Given the description of an element on the screen output the (x, y) to click on. 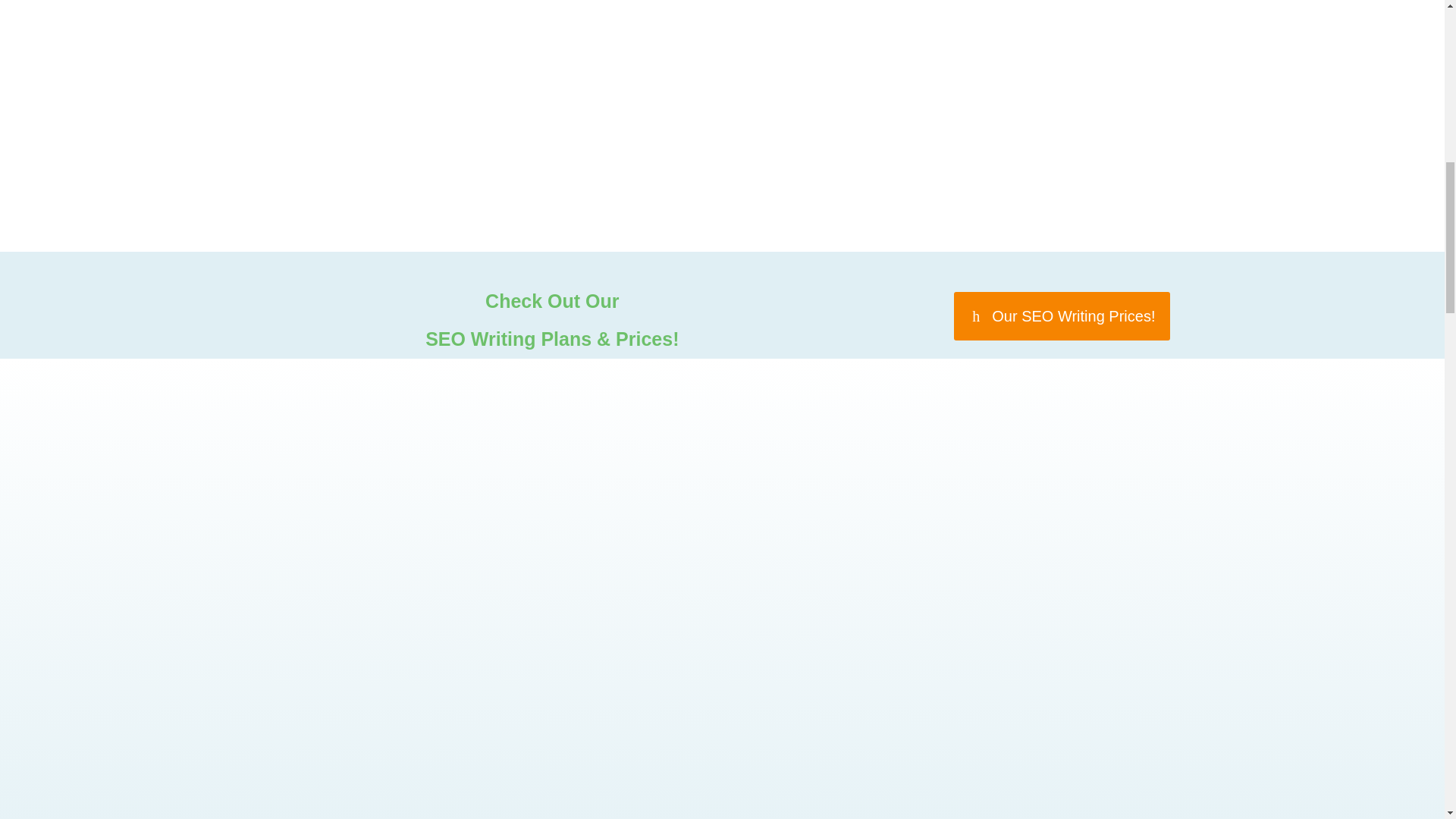
Our SEO Writing Prices! (1061, 315)
